Given the description of an element on the screen output the (x, y) to click on. 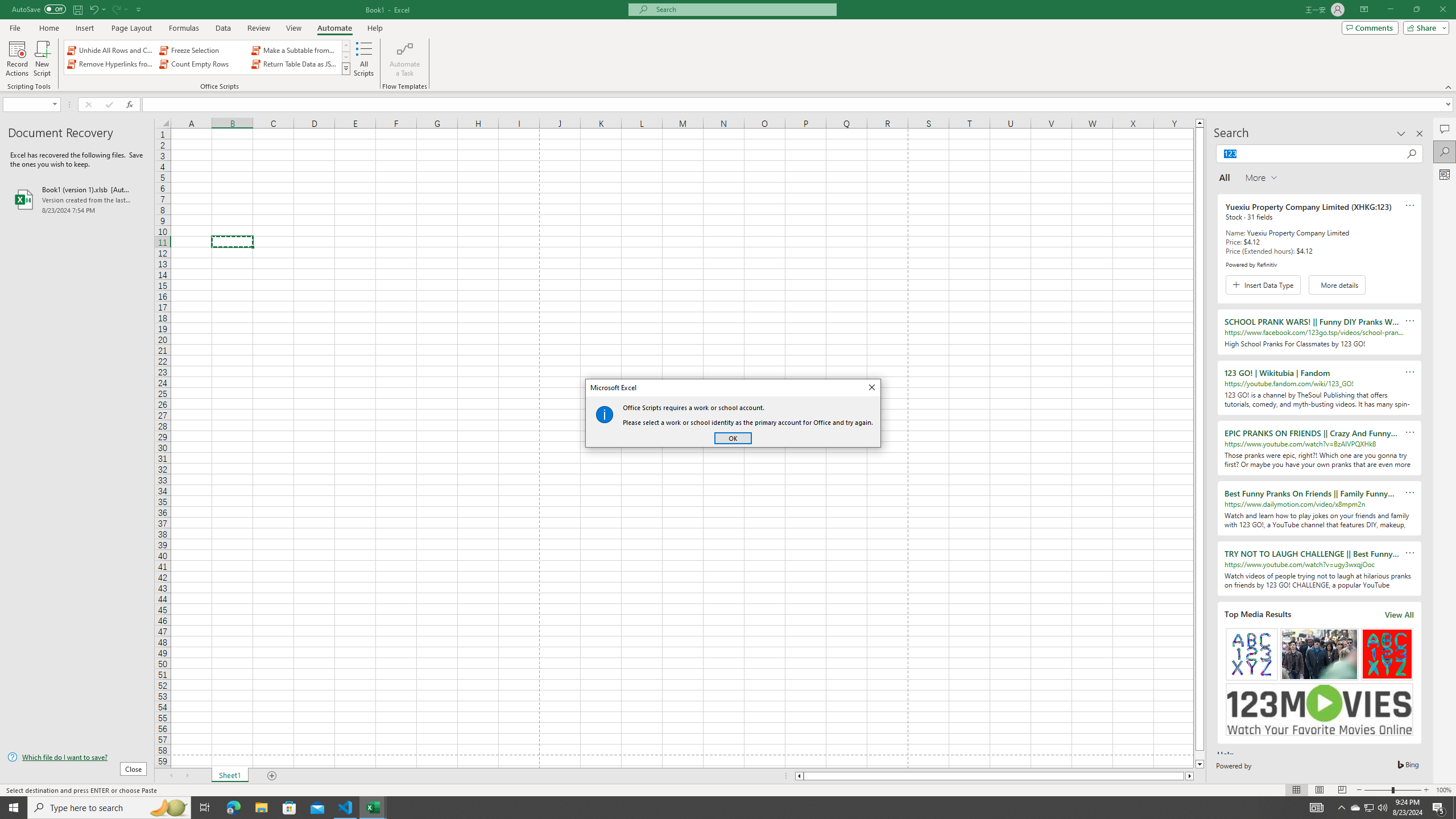
Action Center, 5 new notifications (1439, 807)
Notification Chevron (1341, 807)
Count Empty Rows (202, 64)
Show desktop (1454, 807)
New Script (41, 58)
Unhide All Rows and Columns (111, 50)
Office Scripts (346, 68)
Task View (204, 807)
